Given the description of an element on the screen output the (x, y) to click on. 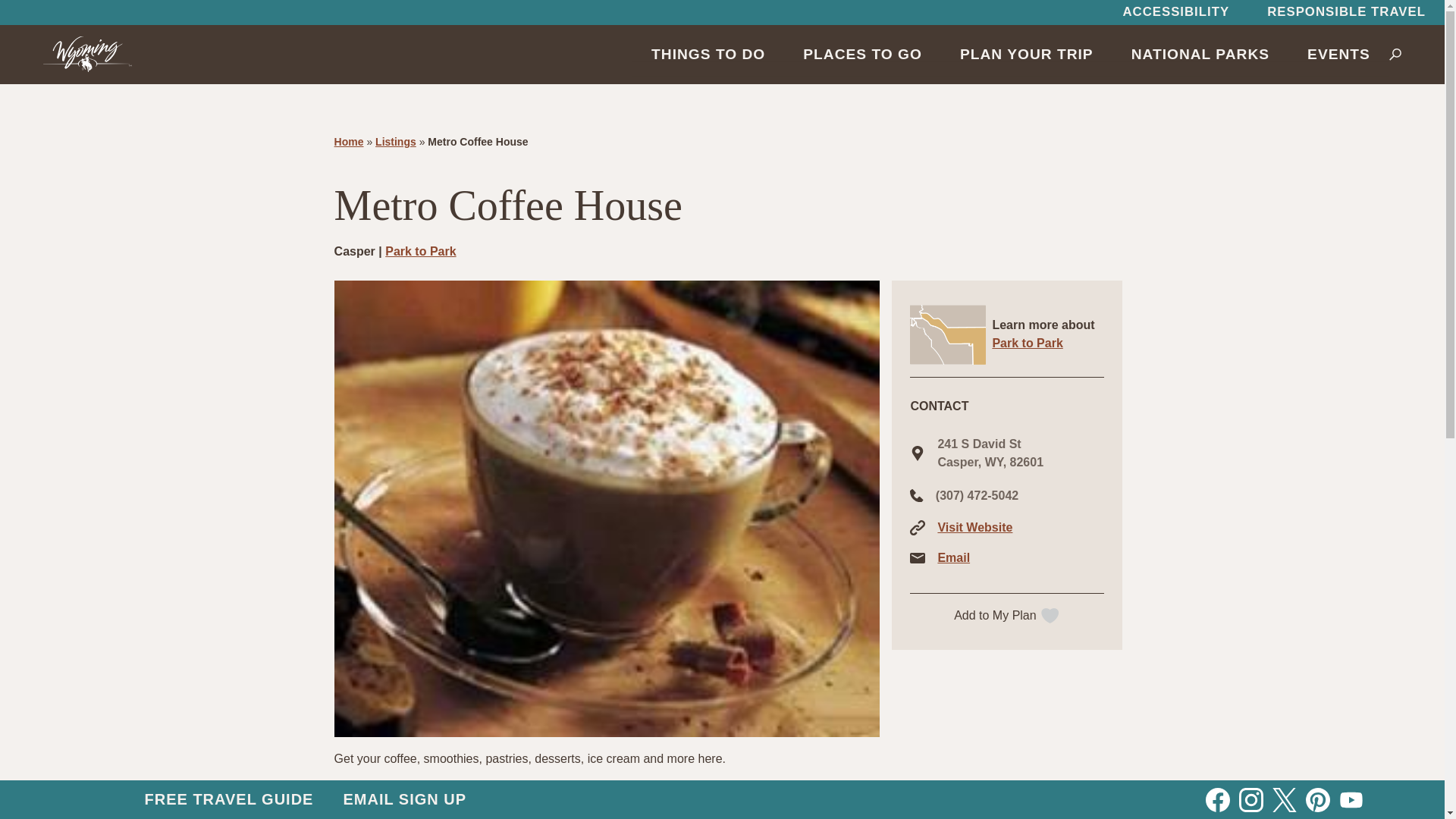
PLAN YOUR TRIP (1026, 53)
RESPONSIBLE TRAVEL (1345, 11)
EVENTS (1338, 53)
ACCESSIBILITY (1175, 11)
NATIONAL PARKS (1200, 53)
THINGS TO DO (707, 53)
PLACES TO GO (862, 53)
